Given the description of an element on the screen output the (x, y) to click on. 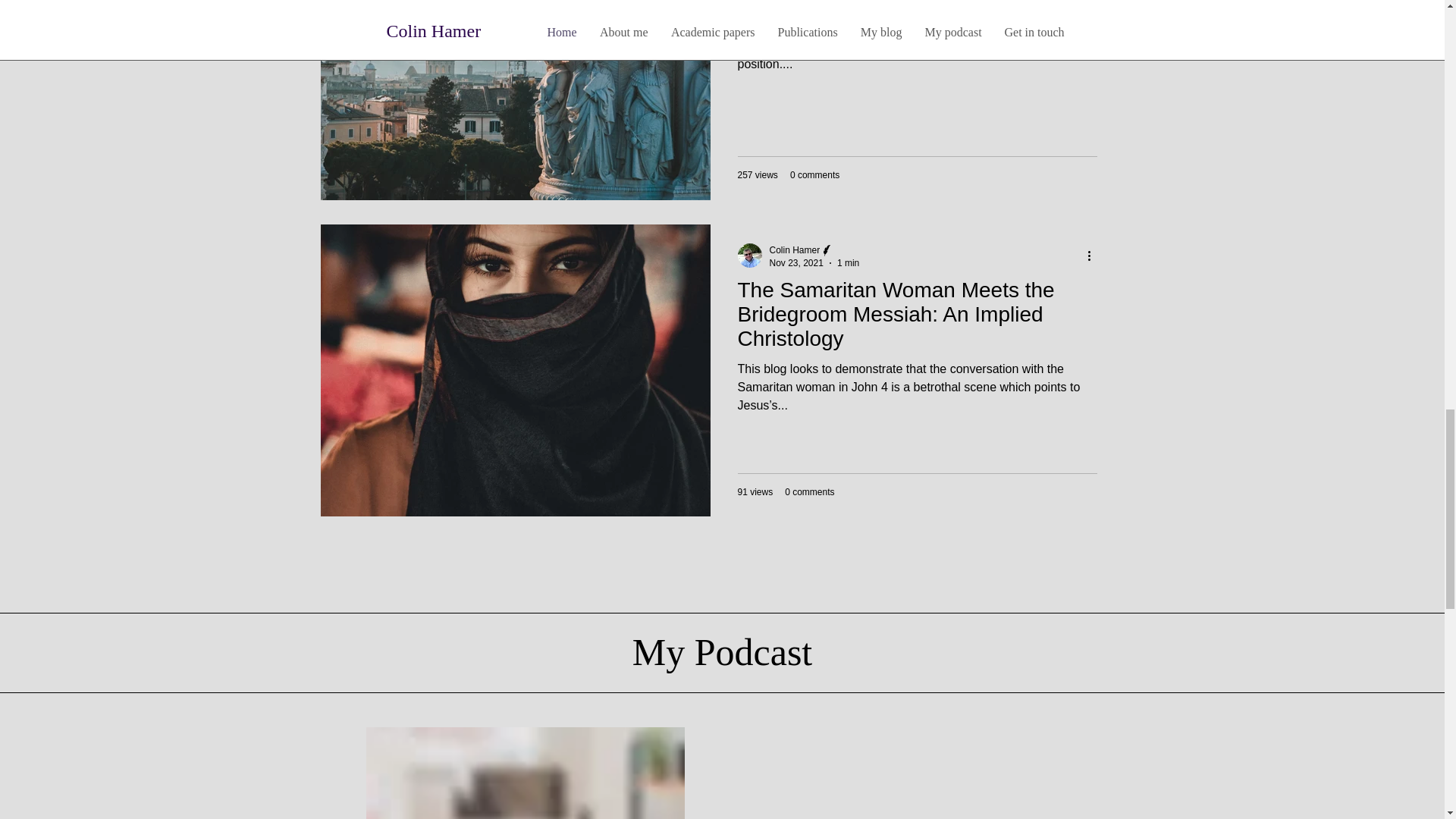
0 comments (809, 491)
Colin Hamer (793, 249)
0 comments (815, 174)
1 min (848, 262)
Nov 23, 2021 (795, 262)
